Given the description of an element on the screen output the (x, y) to click on. 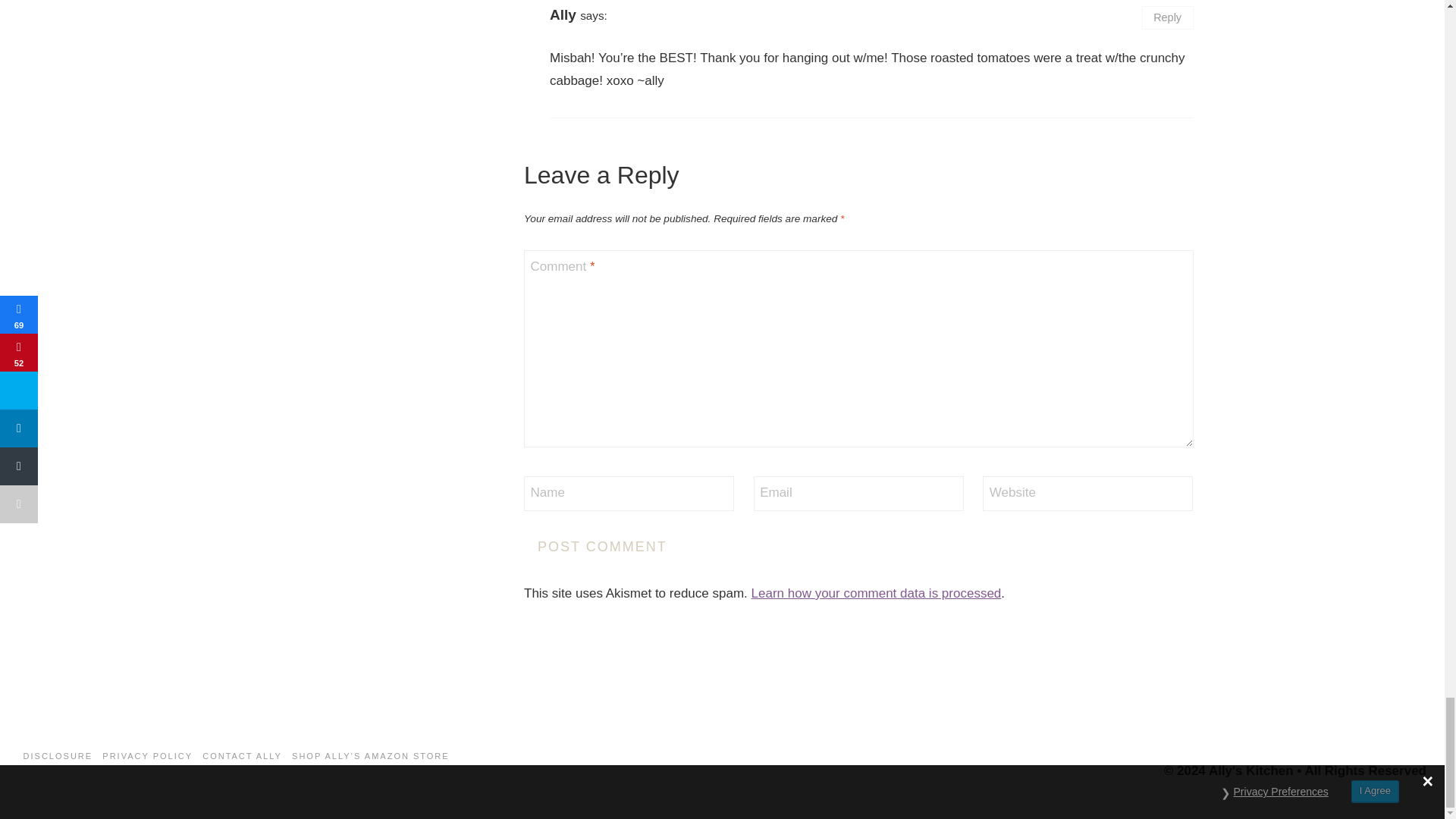
Post Comment (602, 545)
